Given the description of an element on the screen output the (x, y) to click on. 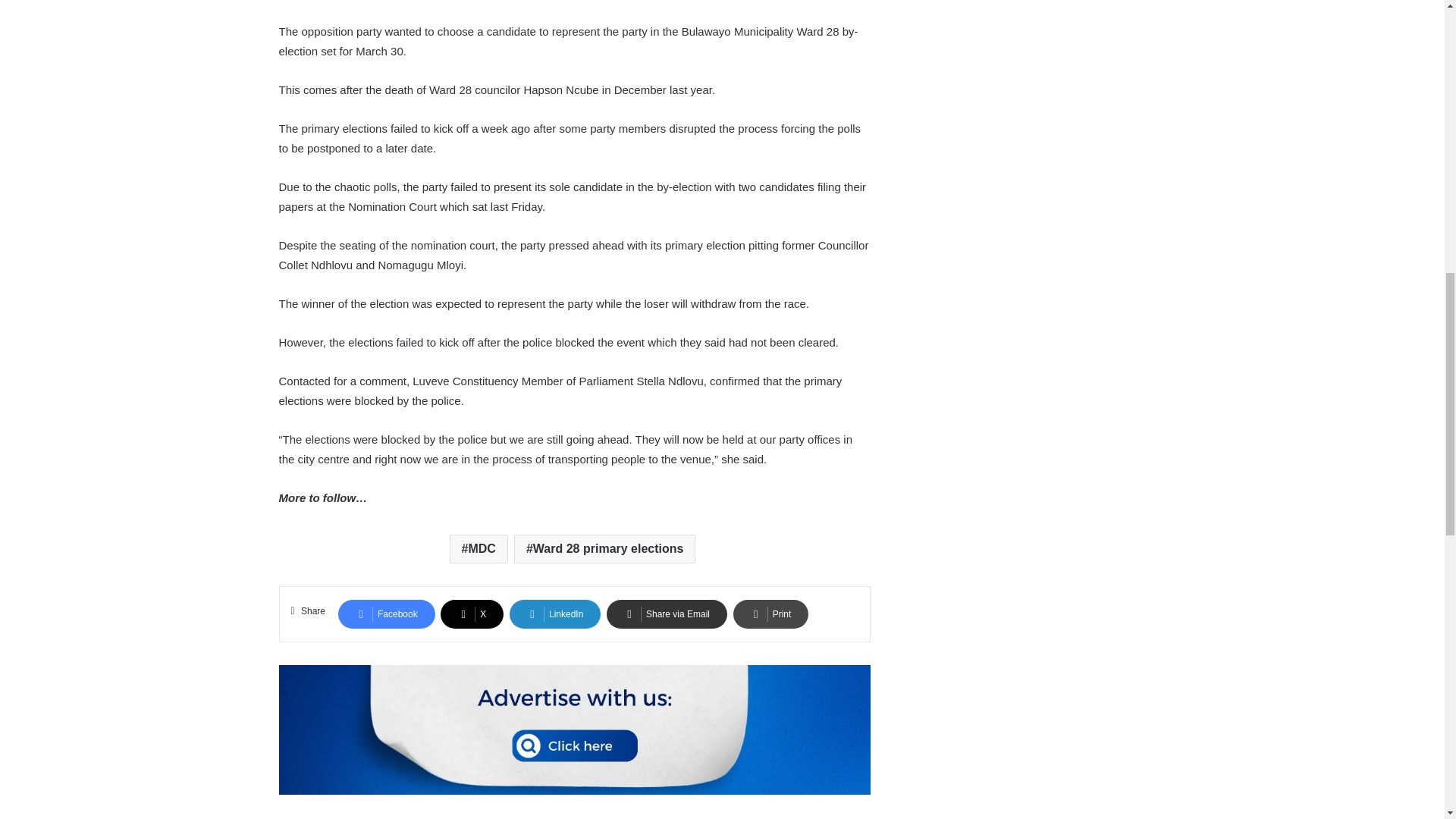
Facebook (386, 613)
X (472, 613)
LinkedIn (554, 613)
MDC (478, 548)
Ward 28 primary elections (604, 548)
